Given the description of an element on the screen output the (x, y) to click on. 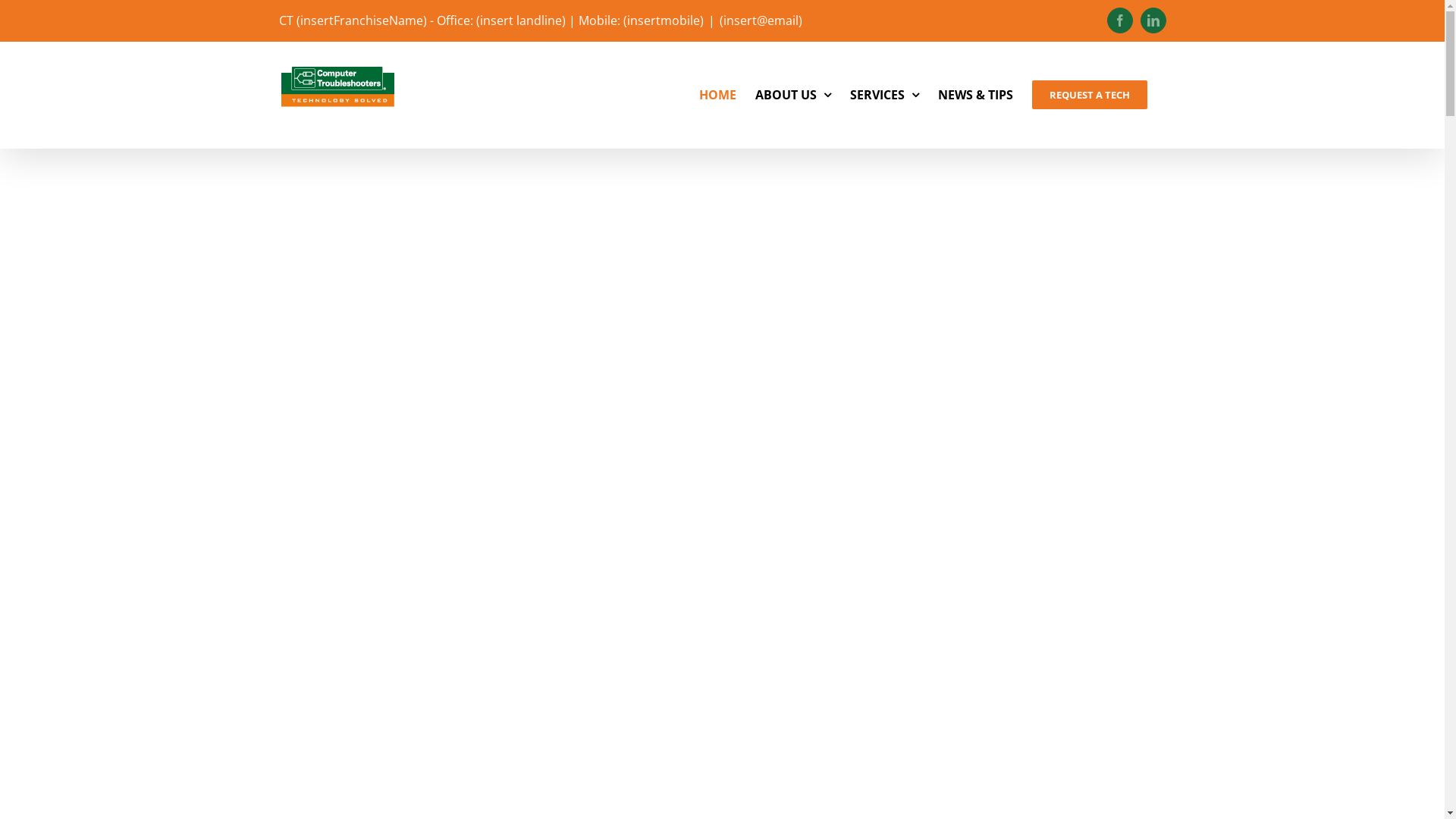
NEWS & TIPS Element type: text (974, 94)
HOME Element type: text (717, 94)
Facebook Element type: text (1119, 20)
SERVICES Element type: text (883, 94)
LinkedIn Element type: text (1153, 20)
ABOUT US Element type: text (793, 94)
(insert@email) Element type: text (759, 20)
REQUEST A TECH Element type: text (1088, 94)
